Given the description of an element on the screen output the (x, y) to click on. 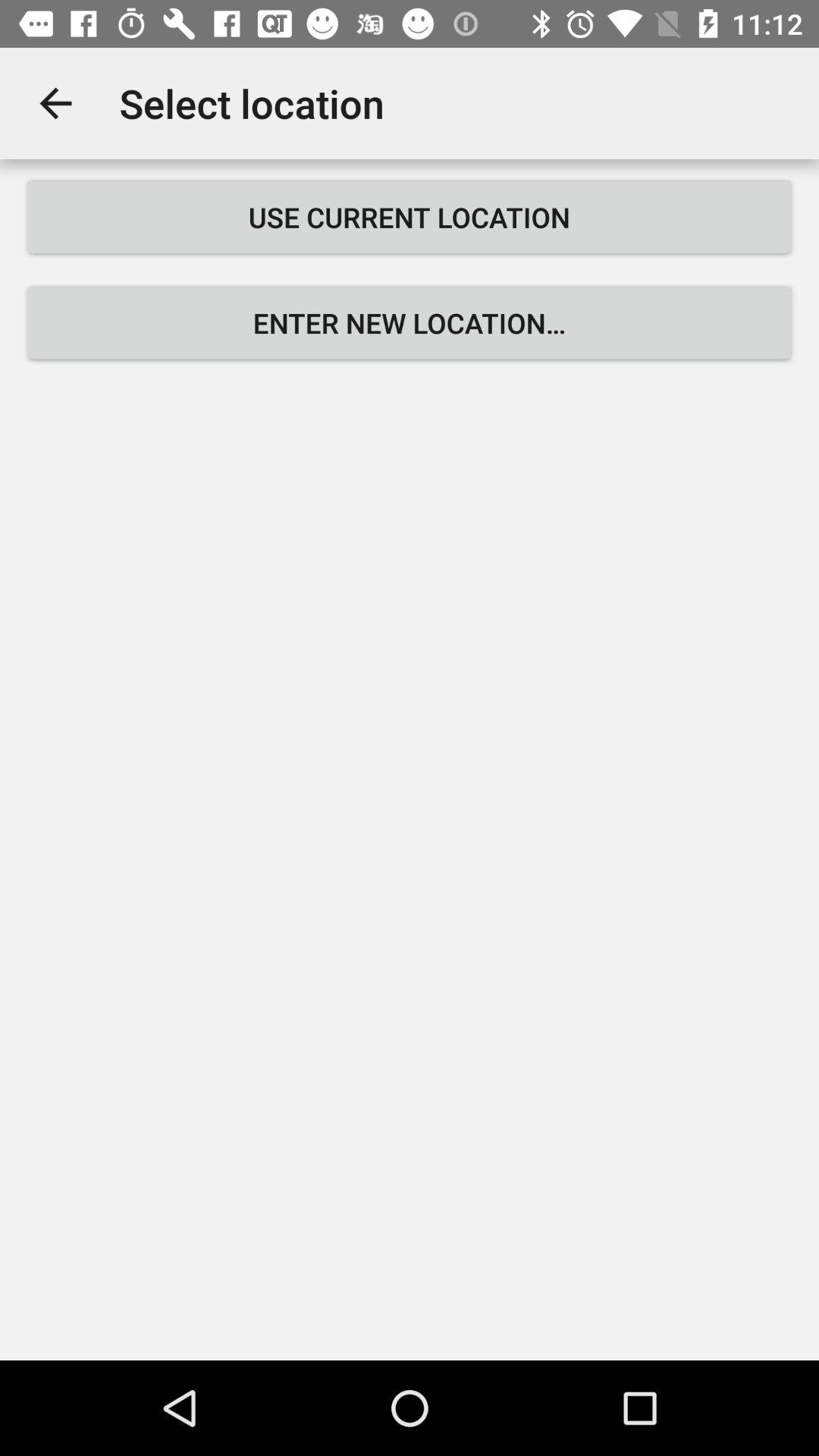
click use current location icon (409, 217)
